Given the description of an element on the screen output the (x, y) to click on. 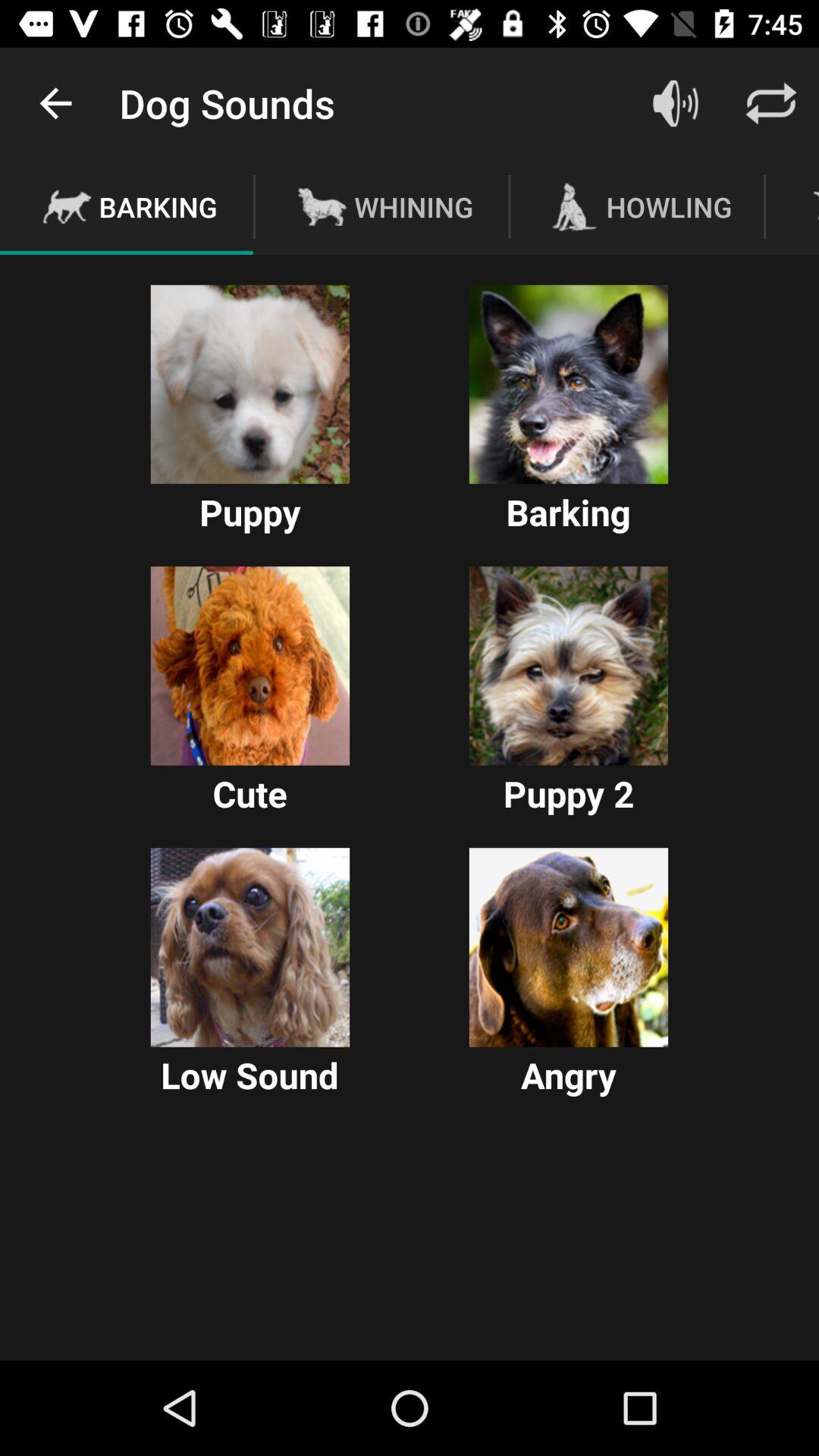
dog (568, 384)
